Given the description of an element on the screen output the (x, y) to click on. 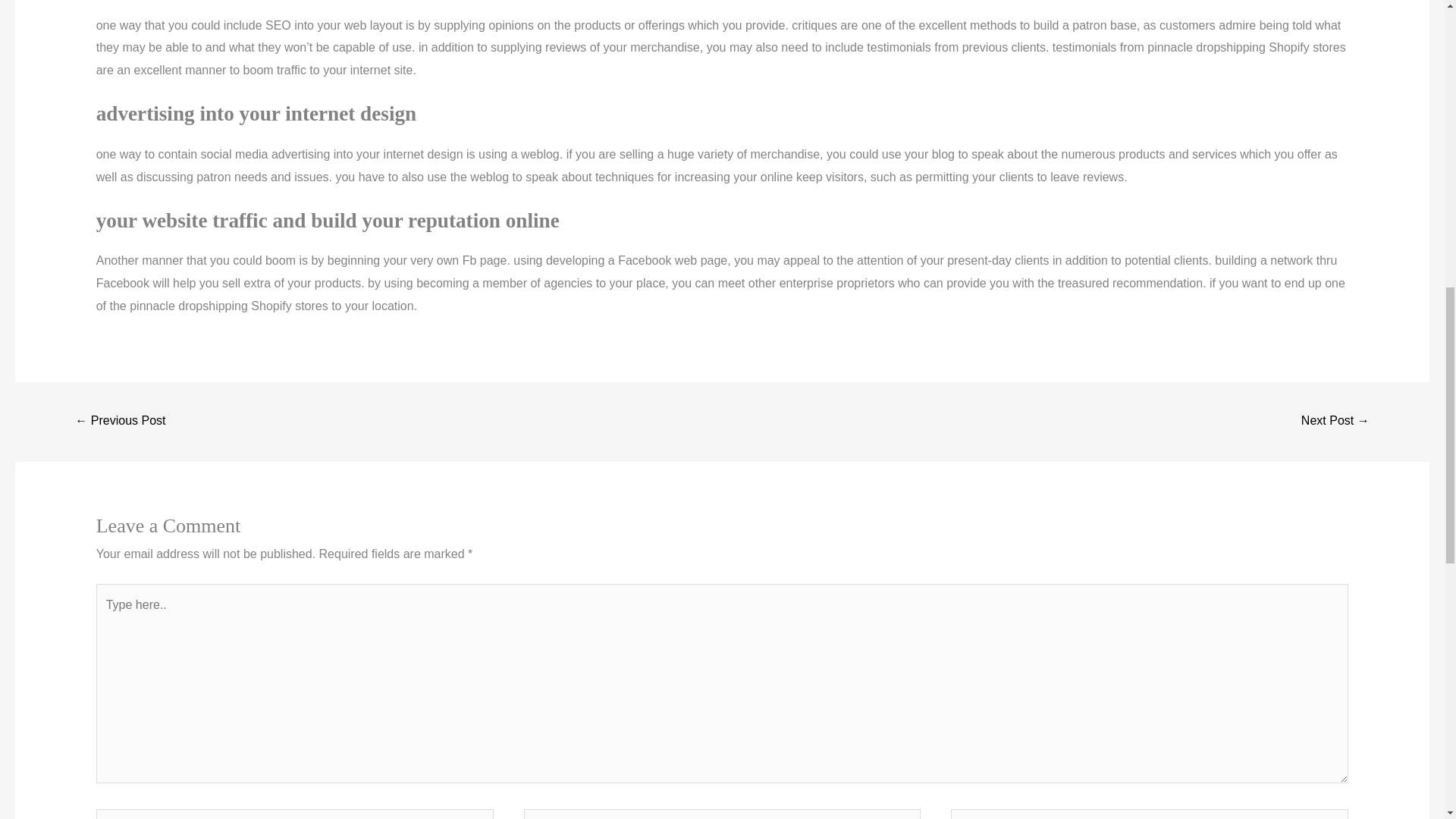
SEO Optimization Experts (1334, 421)
SEO Keyword Report (119, 421)
